Given the description of an element on the screen output the (x, y) to click on. 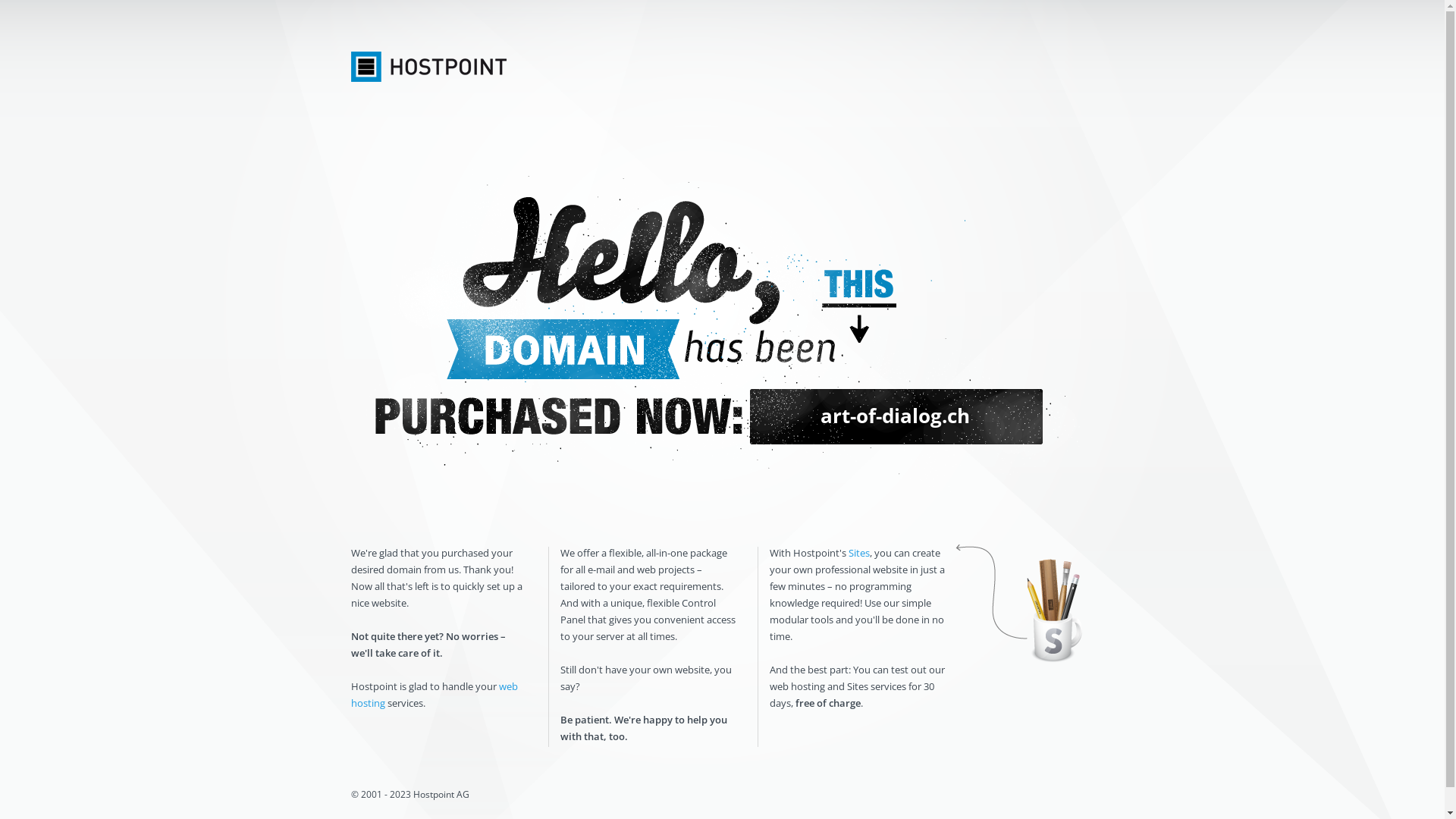
Sites Element type: text (858, 552)
web hosting Element type: text (433, 694)
